Given the description of an element on the screen output the (x, y) to click on. 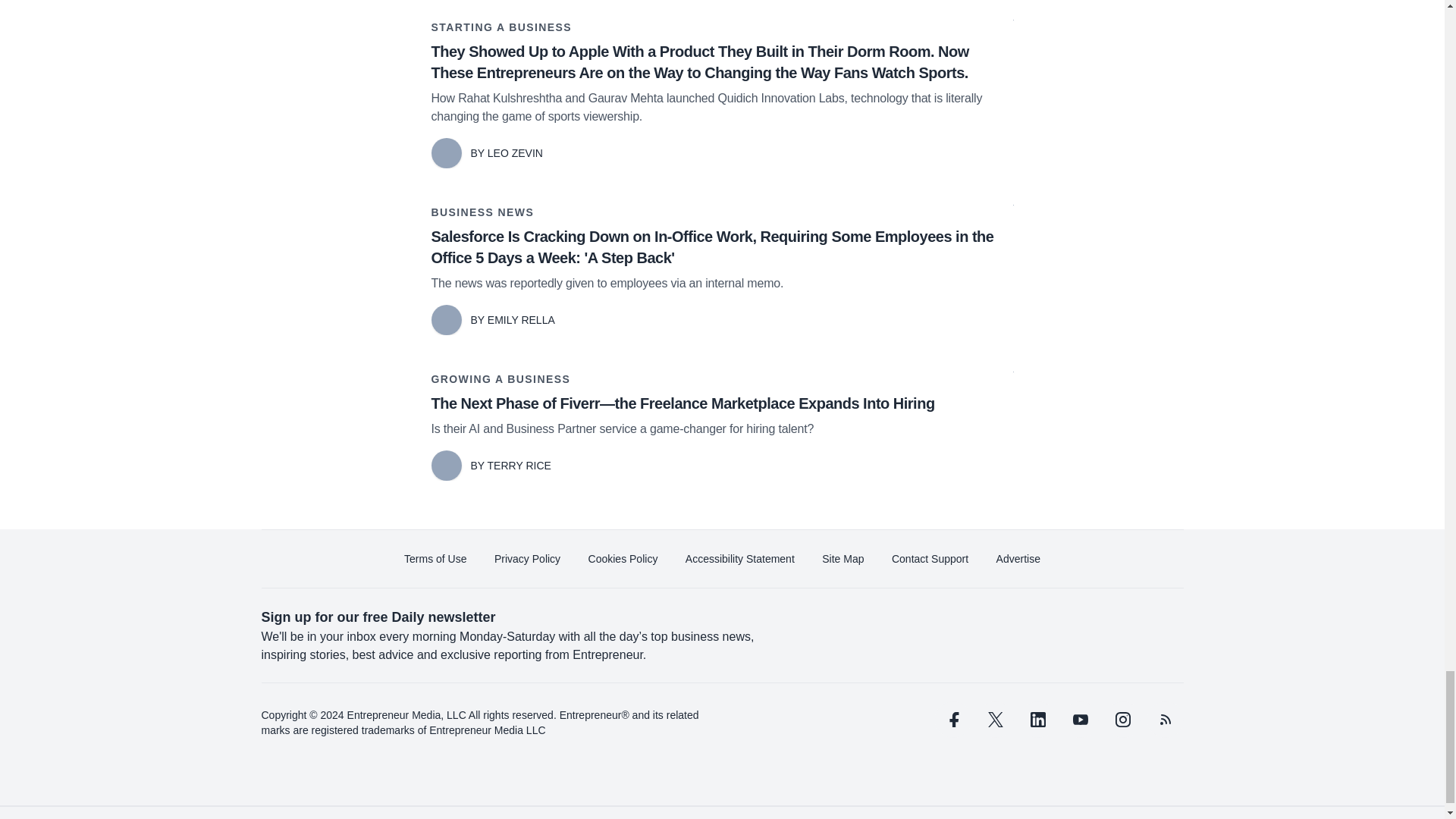
linkedin (1037, 719)
rss (1164, 719)
facebook (952, 719)
youtube (1079, 719)
twitter (994, 719)
instagram (1121, 719)
